Given the description of an element on the screen output the (x, y) to click on. 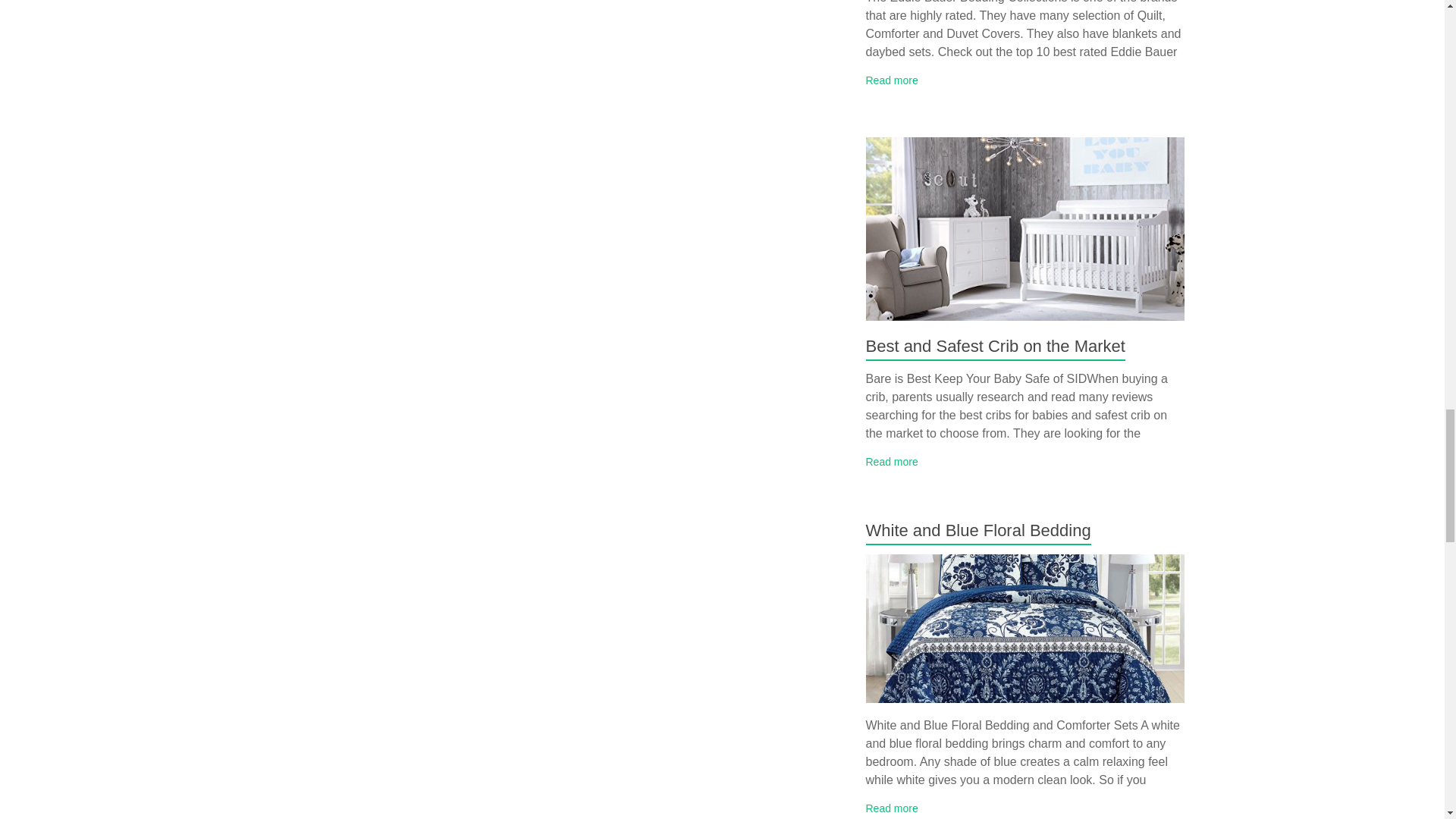
White and Blue Floral Bedding (978, 529)
Best and Safest Crib on the Market (1025, 228)
Best and Safest Crib on the Market (995, 345)
White and Blue Floral Bedding (1025, 628)
